Given the description of an element on the screen output the (x, y) to click on. 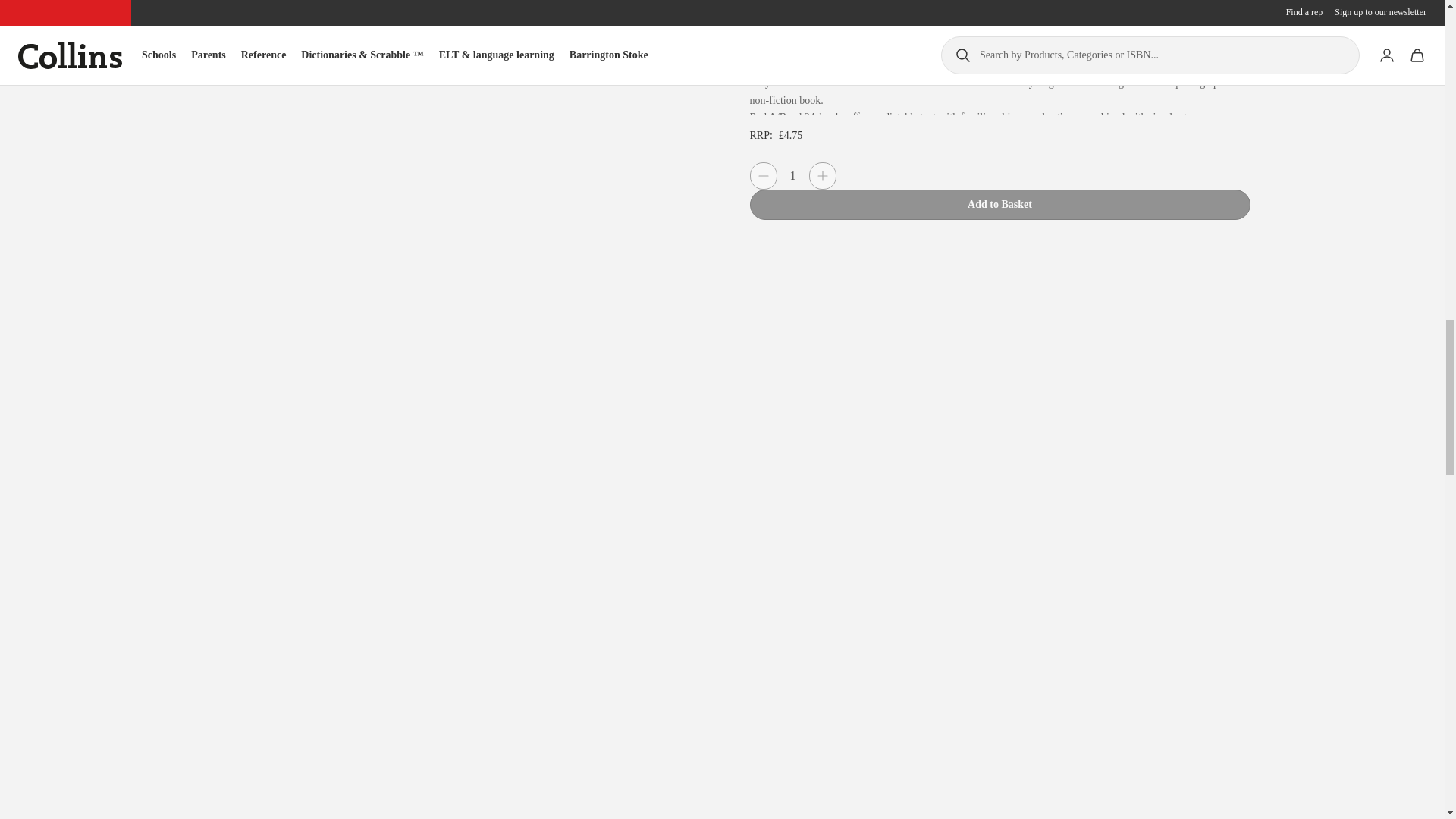
Add to Basket (999, 204)
Increase quantity (821, 175)
Decrease quantity (762, 175)
1 (791, 175)
